Given the description of an element on the screen output the (x, y) to click on. 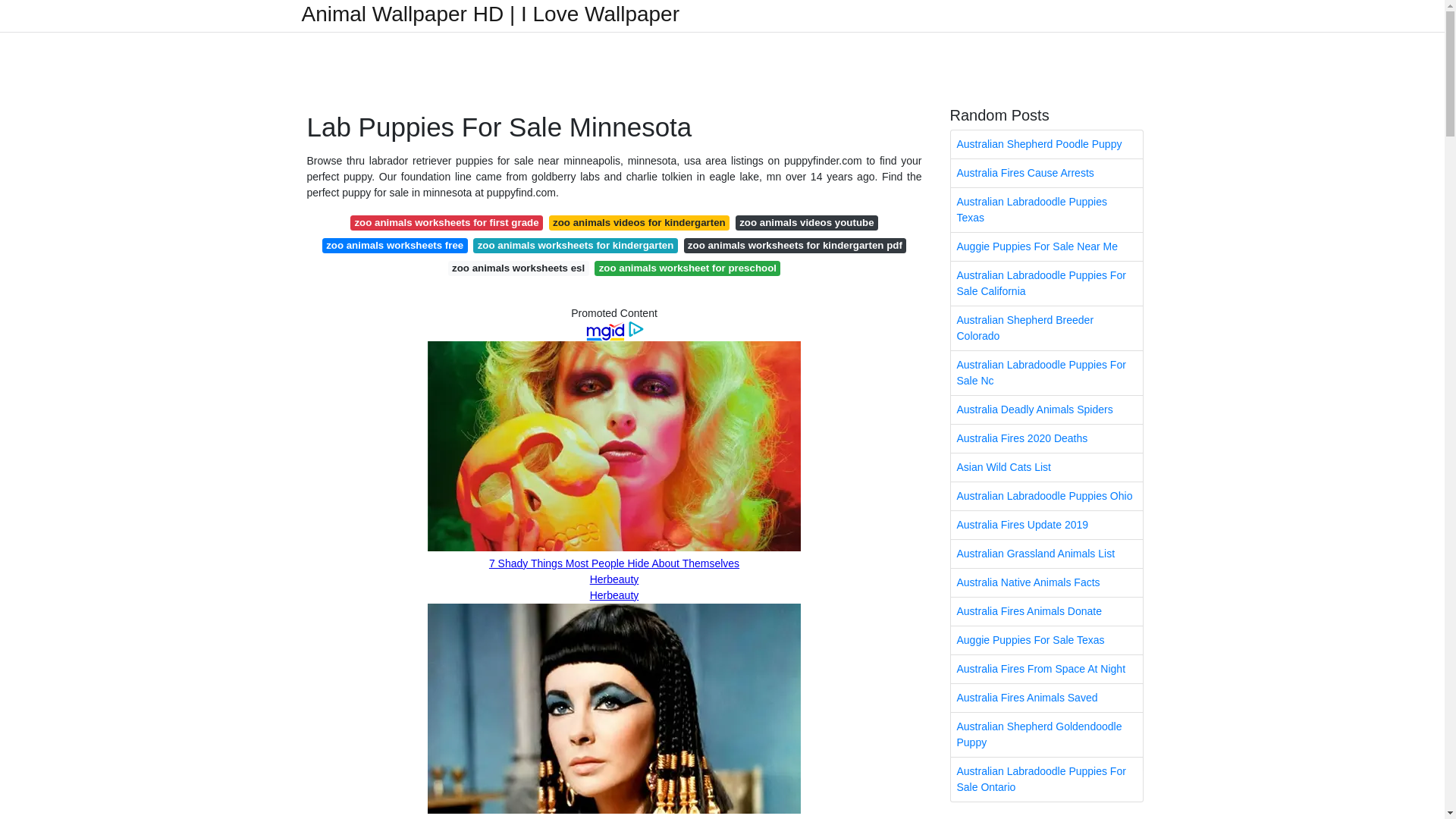
Australian Labradoodle Puppies For Sale Nc (1046, 372)
Australia Deadly Animals Spiders (1046, 409)
Australia Fires 2020 Deaths (1046, 438)
Australia Fires Cause Arrests (1046, 172)
zoo animals worksheets free (394, 245)
zoo animals worksheets for kindergarten (575, 245)
Asian Wild Cats List (1046, 467)
Australian Shepherd Poodle Puppy (1046, 144)
zoo animals worksheets for first grade (446, 222)
Australian Labradoodle Puppies For Sale California (1046, 283)
zoo animals videos youtube (806, 222)
Auggie Puppies For Sale Near Me (1046, 246)
zoo animals worksheet for preschool (687, 268)
Australian Labradoodle Puppies Texas (1046, 209)
Australian Shepherd Breeder Colorado (1046, 328)
